Given the description of an element on the screen output the (x, y) to click on. 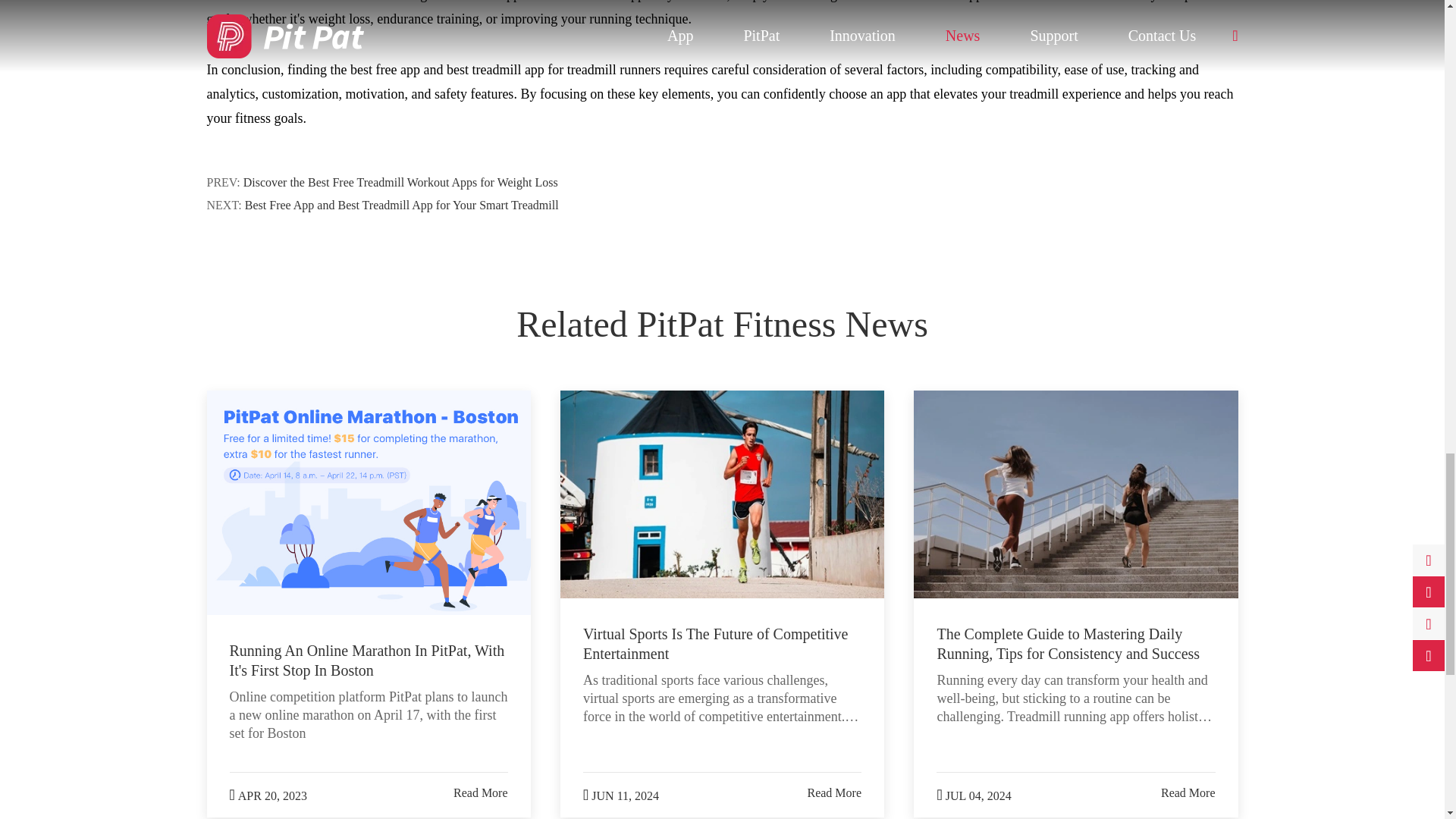
Virtual Sports Is The Future of Competitive Entertainment (721, 494)
